Given the description of an element on the screen output the (x, y) to click on. 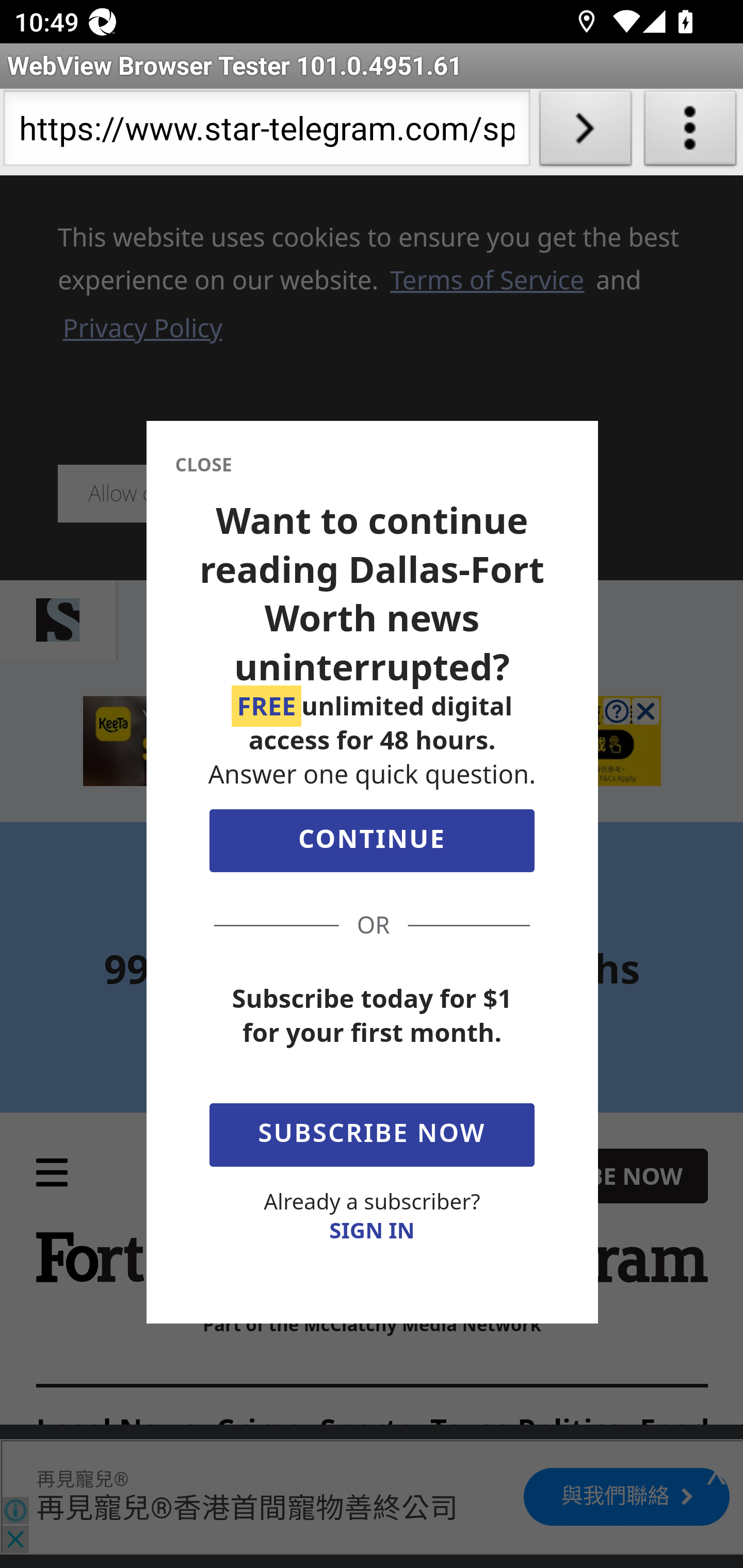
Load URL (585, 132)
About WebView (690, 132)
CLOSE (203, 464)
CONTINUE (371, 844)
SUBSCRIBE NOW (371, 1130)
SIGN IN (371, 1229)
